Given the description of an element on the screen output the (x, y) to click on. 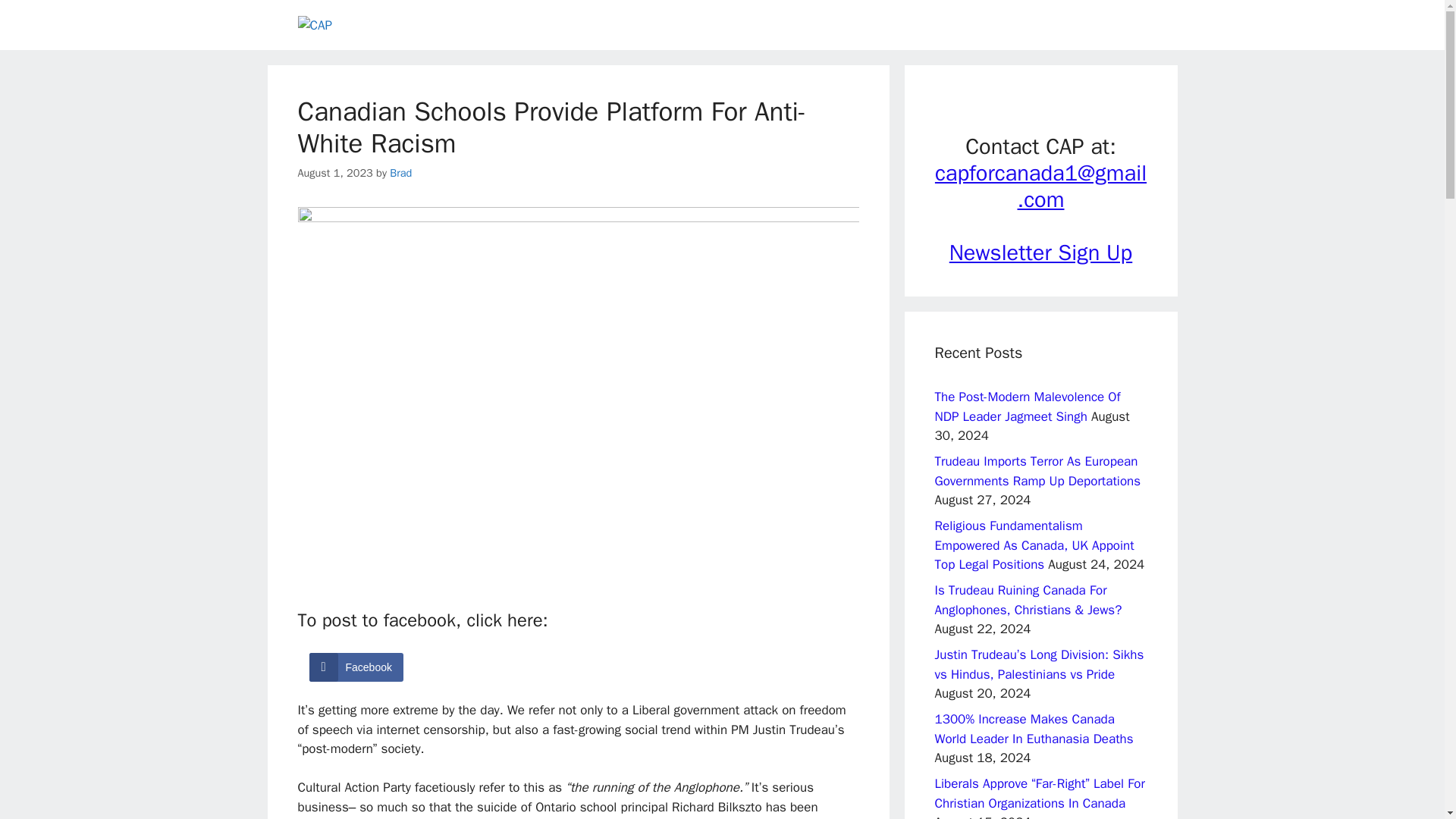
View all posts by Brad (401, 172)
The Post-Modern Malevolence Of NDP Leader Jagmeet Singh (1026, 407)
Facebook (355, 666)
Brad (401, 172)
Newsletter Sign Up (1040, 252)
